Given the description of an element on the screen output the (x, y) to click on. 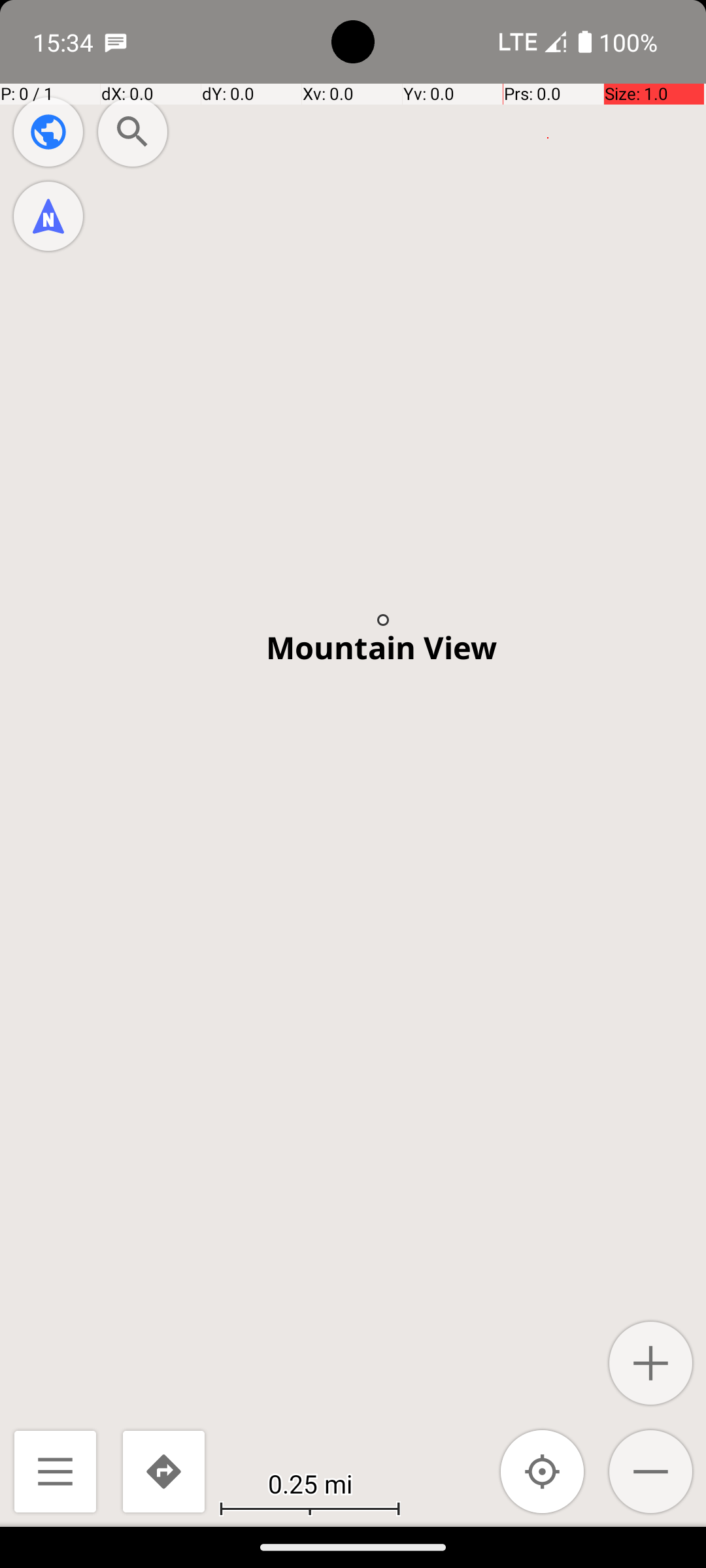
Movement direction Element type: android.widget.ImageButton (48, 216)
0.25 mi Element type: android.widget.TextView (309, 1483)
